Given the description of an element on the screen output the (x, y) to click on. 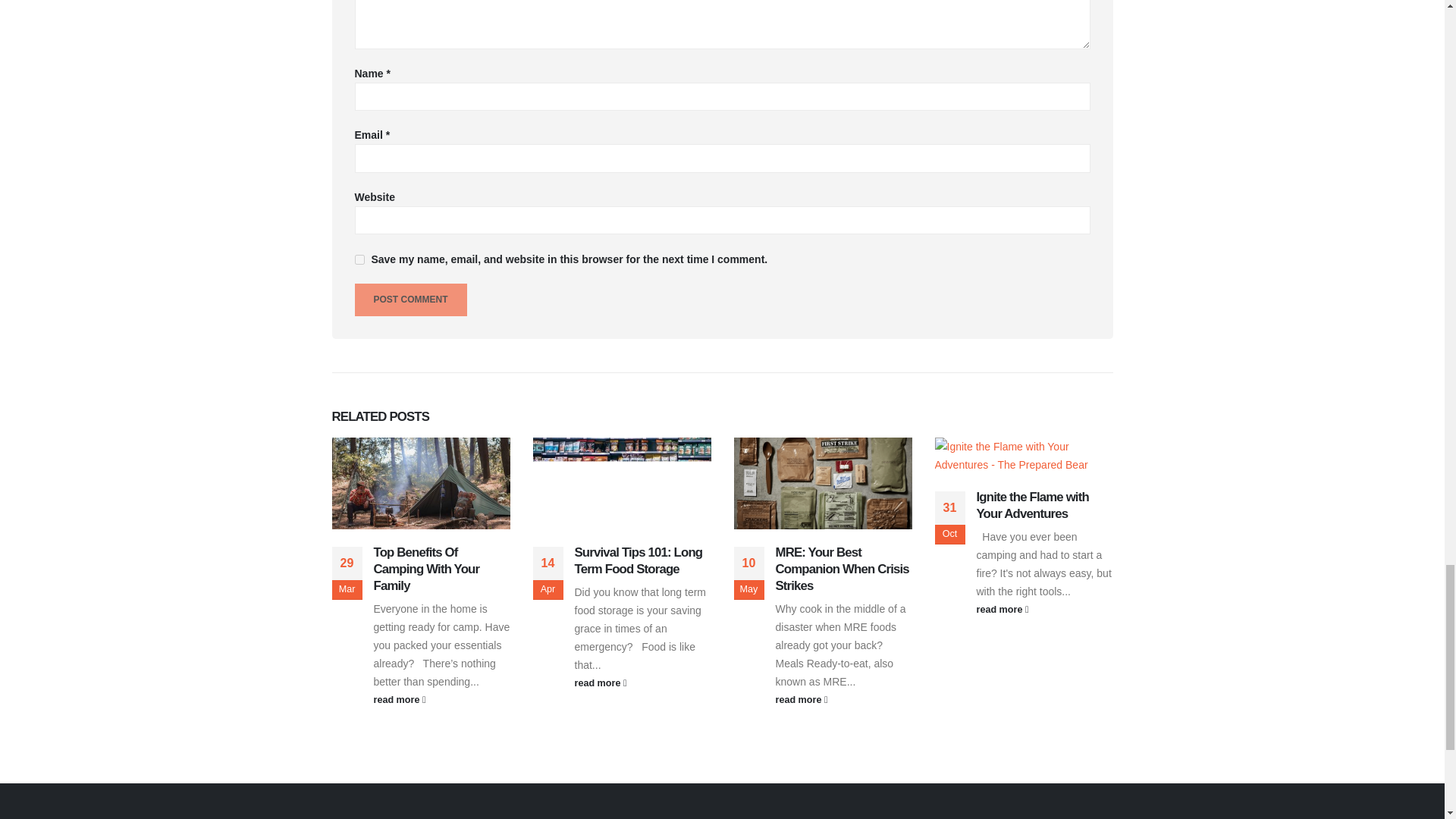
yes (360, 259)
Post Comment (411, 299)
